Given the description of an element on the screen output the (x, y) to click on. 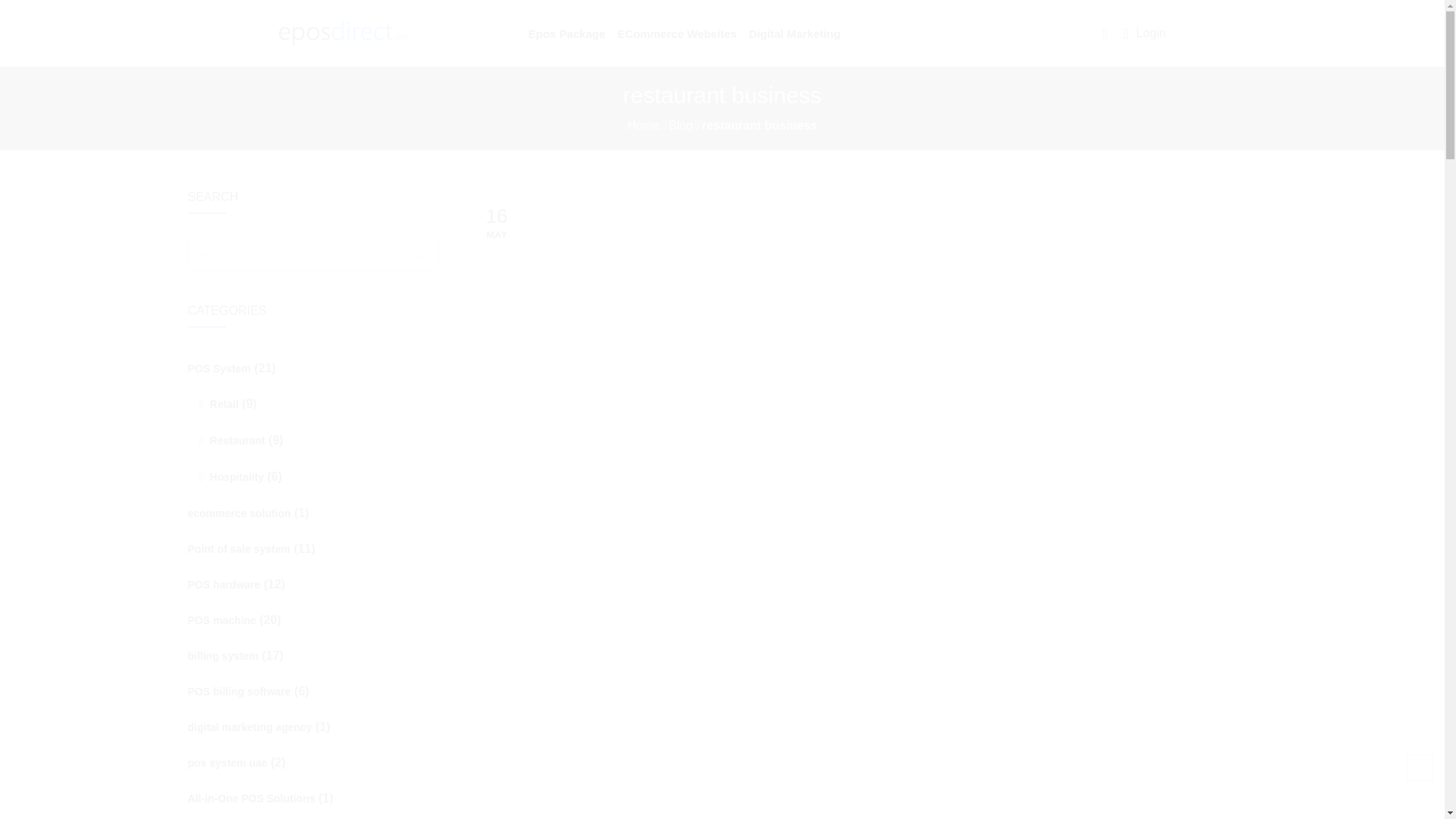
Epos Package (566, 33)
ECommerce Websites (676, 33)
Home (643, 124)
What Are The Benefits Of Restaurant Automation (859, 584)
Blog (680, 124)
Epos Direct (343, 33)
Digital Marketing (794, 33)
Blog (680, 124)
Go to Home Page (643, 124)
